Given the description of an element on the screen output the (x, y) to click on. 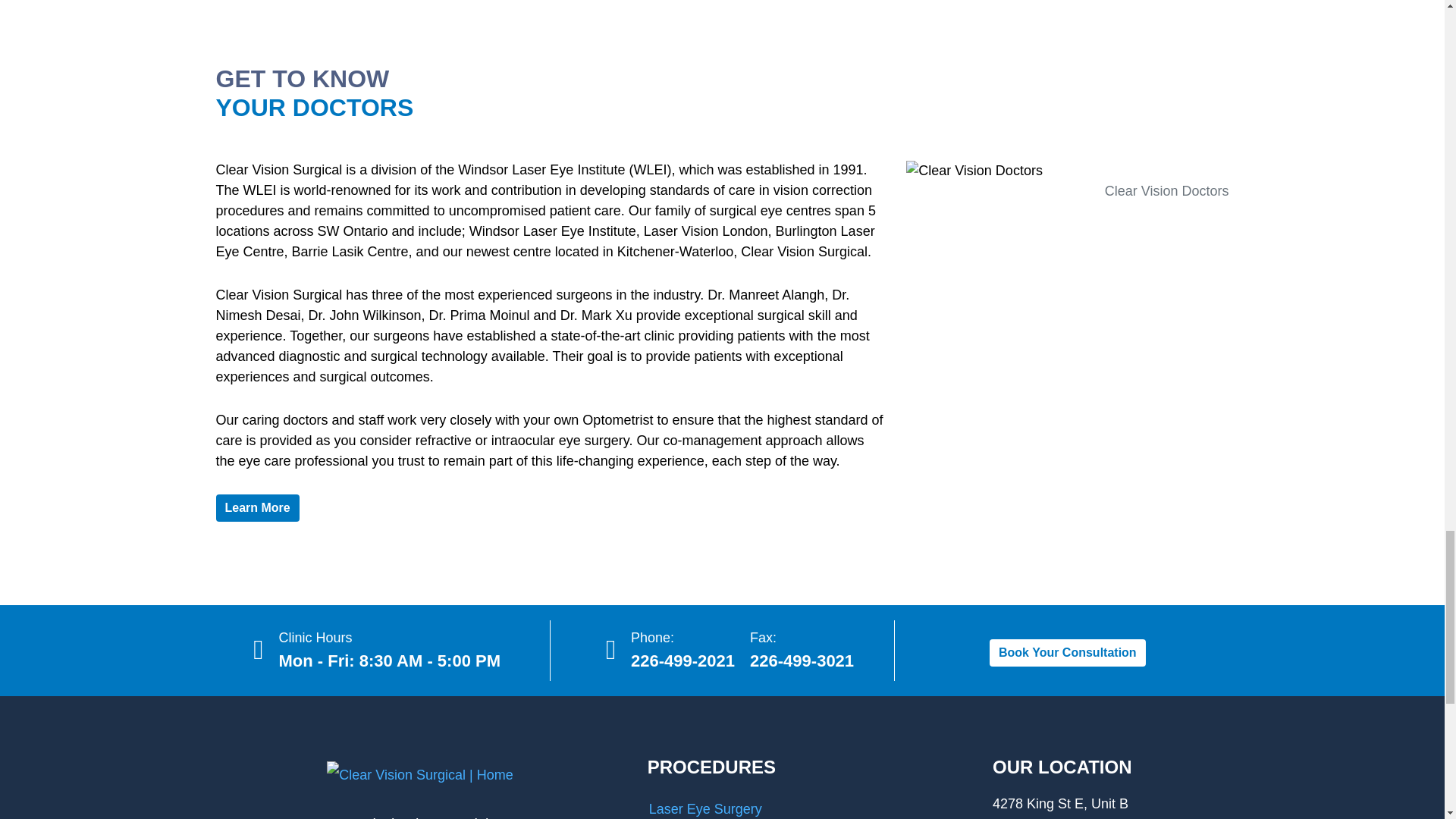
Book Your Consultation (1067, 652)
Learn More (256, 507)
226-499-2021 (682, 660)
Laser Eye Surgery (808, 806)
